Given the description of an element on the screen output the (x, y) to click on. 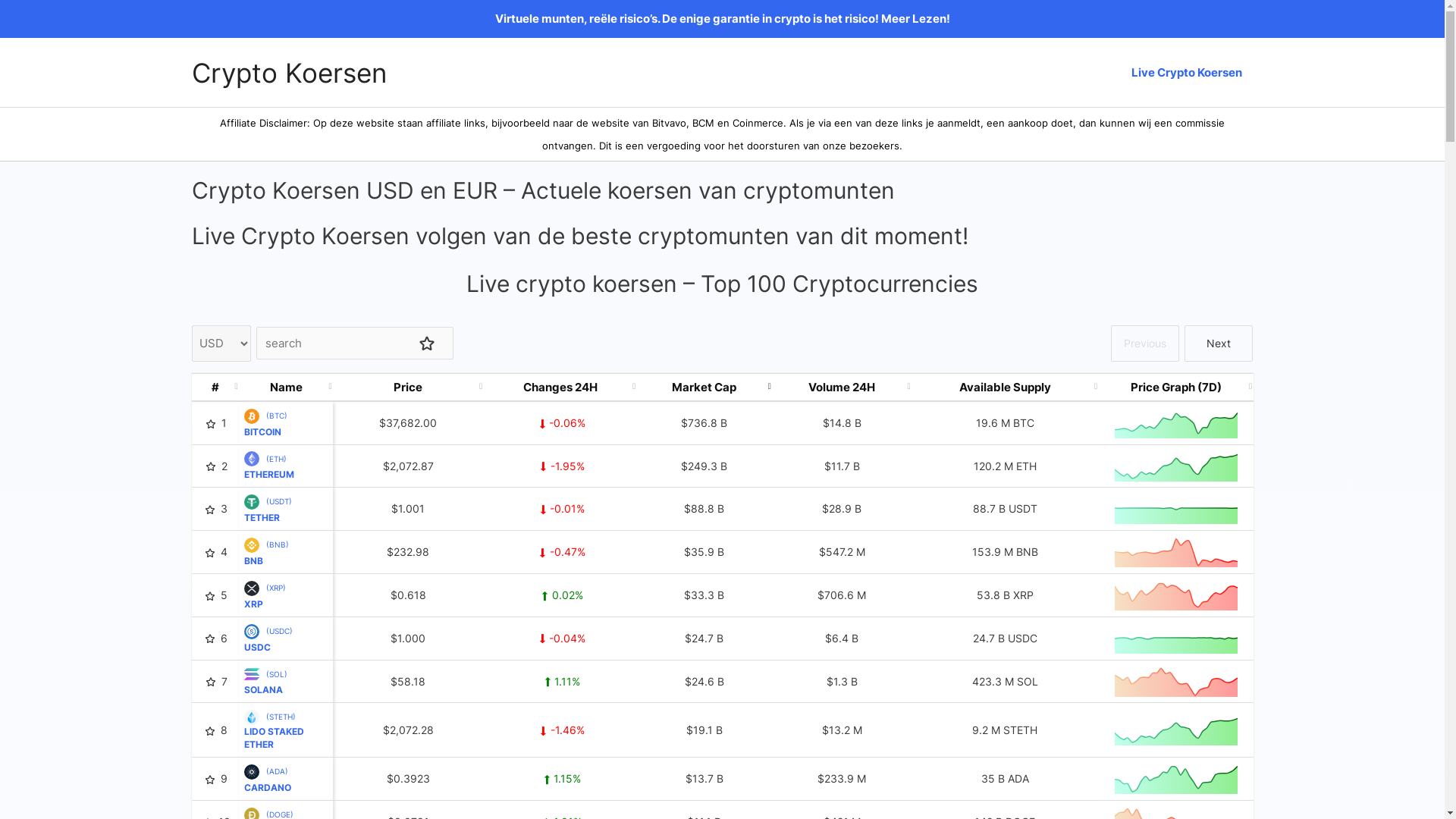
Next Element type: text (1218, 342)
(BTC)
BITCOIN Element type: text (265, 422)
Meer Lezen! Element type: text (915, 18)
(ETH)
ETHEREUM Element type: text (271, 465)
(BNB)
BNB Element type: text (266, 551)
(SOL)
SOLANA Element type: text (265, 681)
(USDC)
USDC Element type: text (268, 637)
(XRP)
XRP Element type: text (264, 594)
(USDT)
TETHER Element type: text (267, 508)
Live Crypto Koersen Element type: text (1185, 72)
Previous Element type: text (1144, 342)
(ADA)
CARDANO Element type: text (269, 778)
Show/Hide Watch List Element type: hover (426, 342)
Crypto Koersen Element type: text (288, 72)
(STETH)
LIDO STAKED ETHER Element type: text (285, 729)
